Given the description of an element on the screen output the (x, y) to click on. 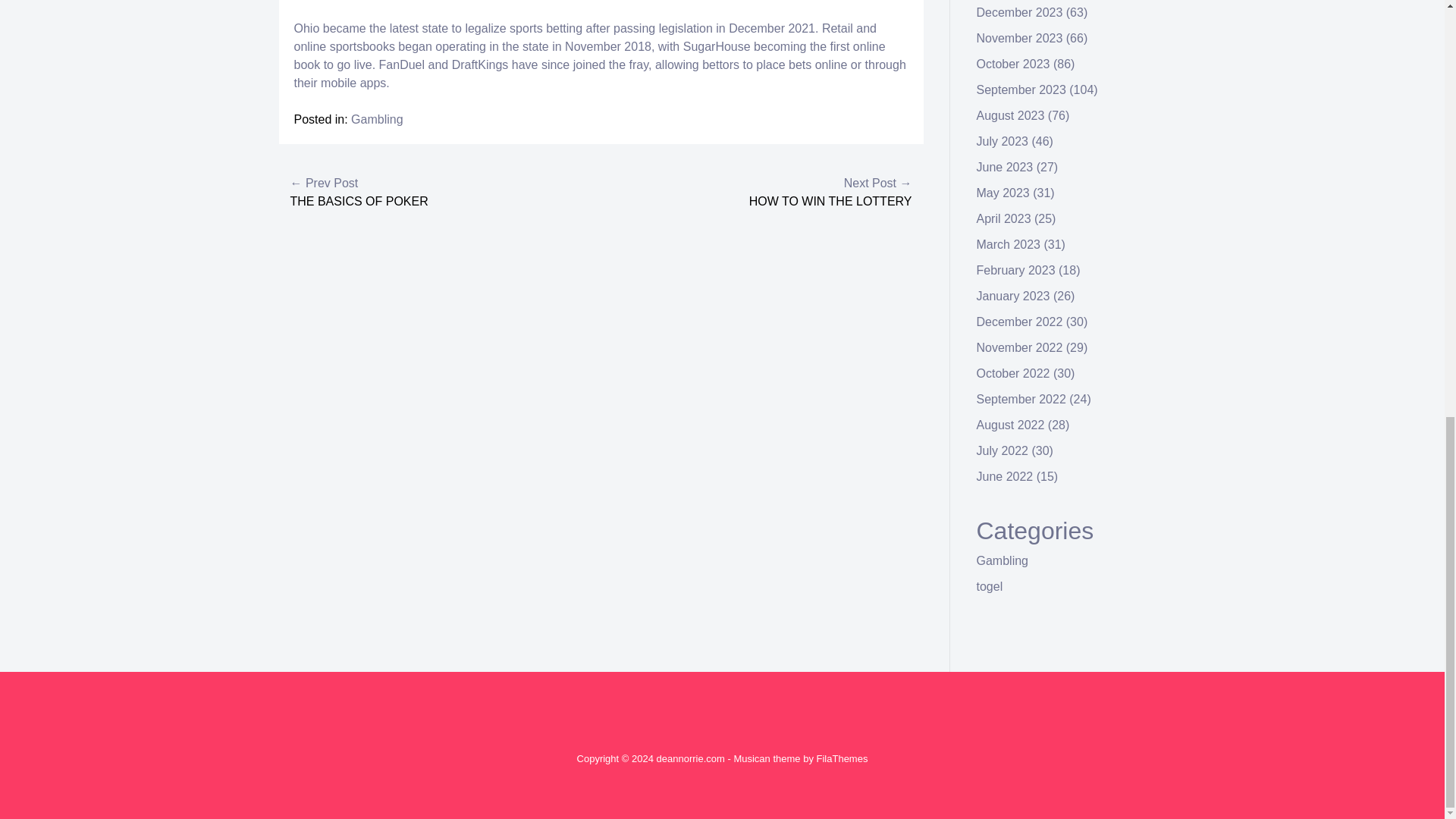
August 2022 (1010, 424)
April 2023 (1003, 218)
September 2022 (1020, 399)
December 2023 (1019, 11)
December 2022 (1019, 321)
June 2023 (1004, 166)
January 2023 (1012, 295)
November 2022 (1019, 347)
February 2023 (1015, 269)
May 2023 (1002, 192)
